Given the description of an element on the screen output the (x, y) to click on. 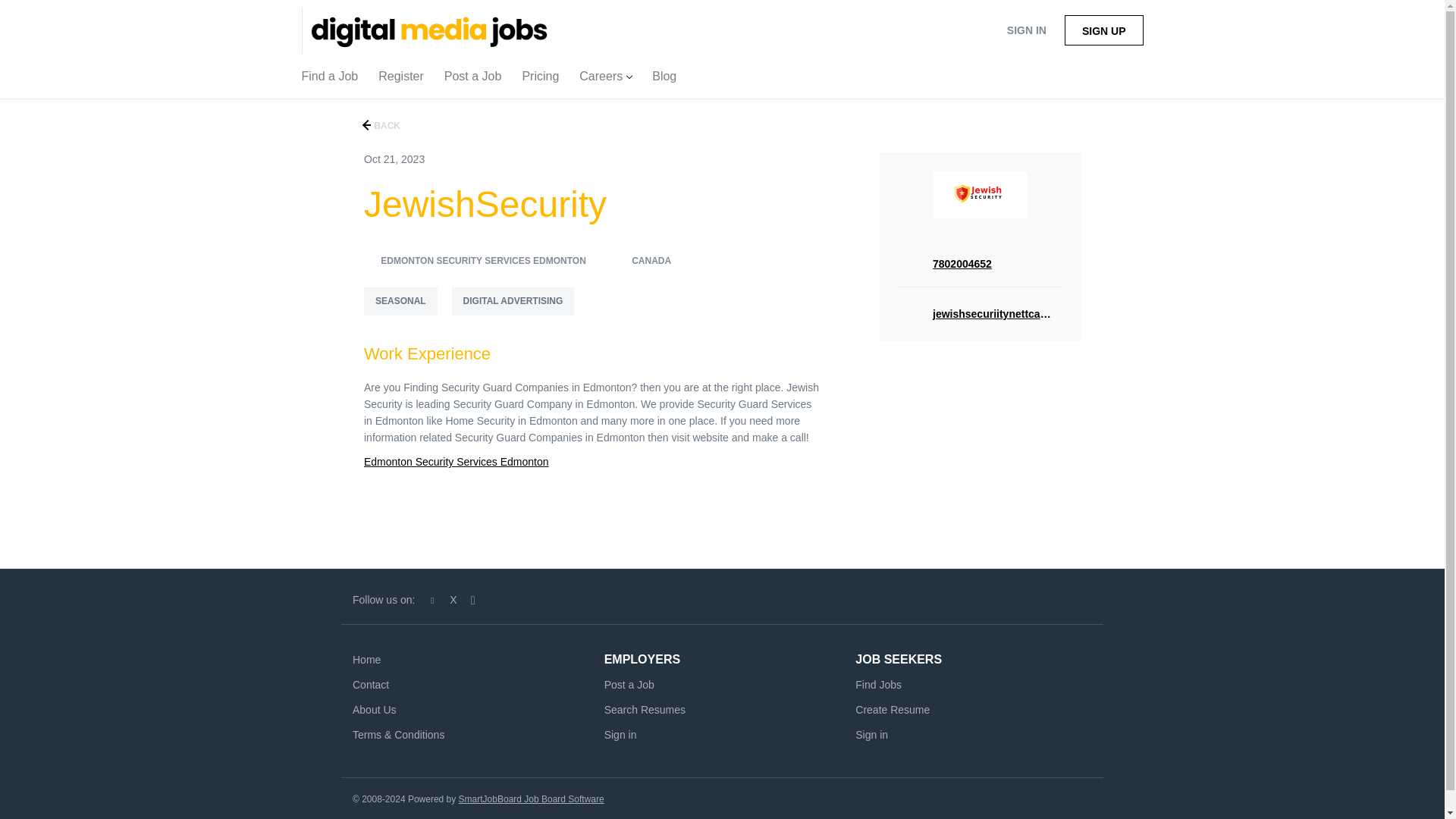
Post a Job (472, 79)
Find a Job (330, 79)
Careers (605, 79)
Register (400, 79)
Job Board Software, Script (531, 798)
SIGN IN (1026, 30)
Pricing (539, 79)
SIGN UP (1103, 30)
